Given the description of an element on the screen output the (x, y) to click on. 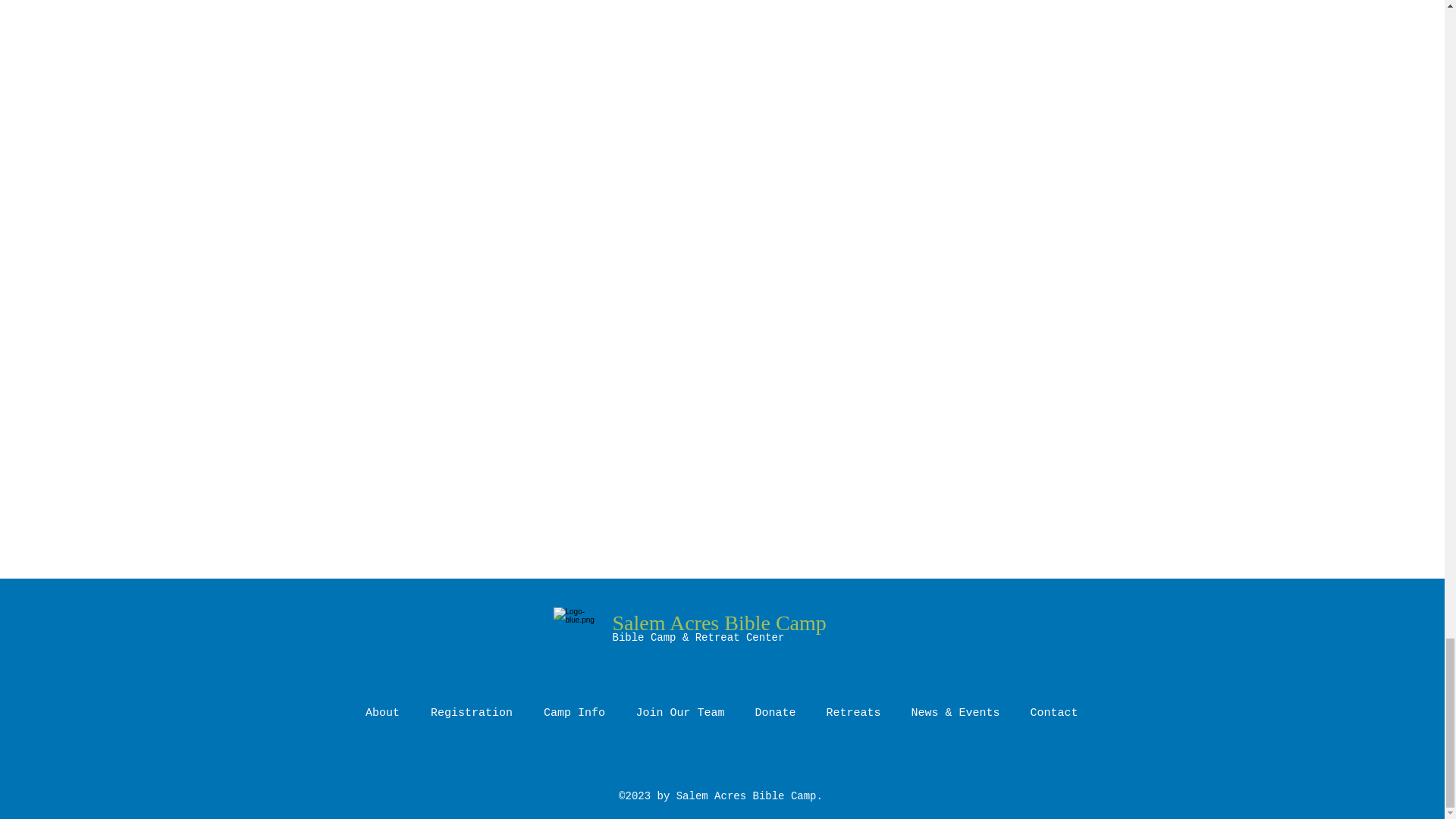
About (382, 713)
Join Our Team (679, 713)
Salem Acres Bible Camp (719, 622)
Retreats (853, 713)
Camp Info (573, 713)
Registration (471, 713)
Donate (774, 713)
Contact (1053, 713)
